Given the description of an element on the screen output the (x, y) to click on. 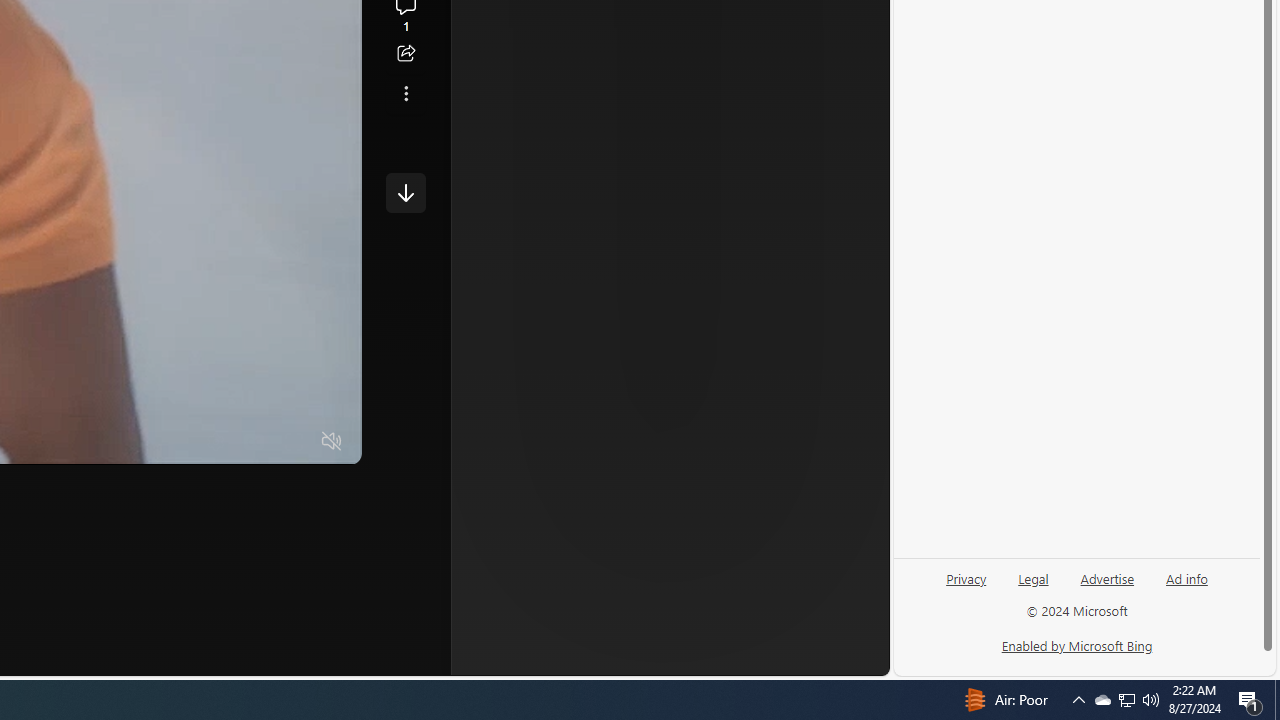
See more (406, 93)
Fullscreen (293, 442)
Advertise (1106, 586)
Privacy (966, 586)
Ad Choice (822, 336)
Privacy (965, 577)
Unmute (332, 442)
Share this story (406, 53)
Ad (572, 337)
